Given the description of an element on the screen output the (x, y) to click on. 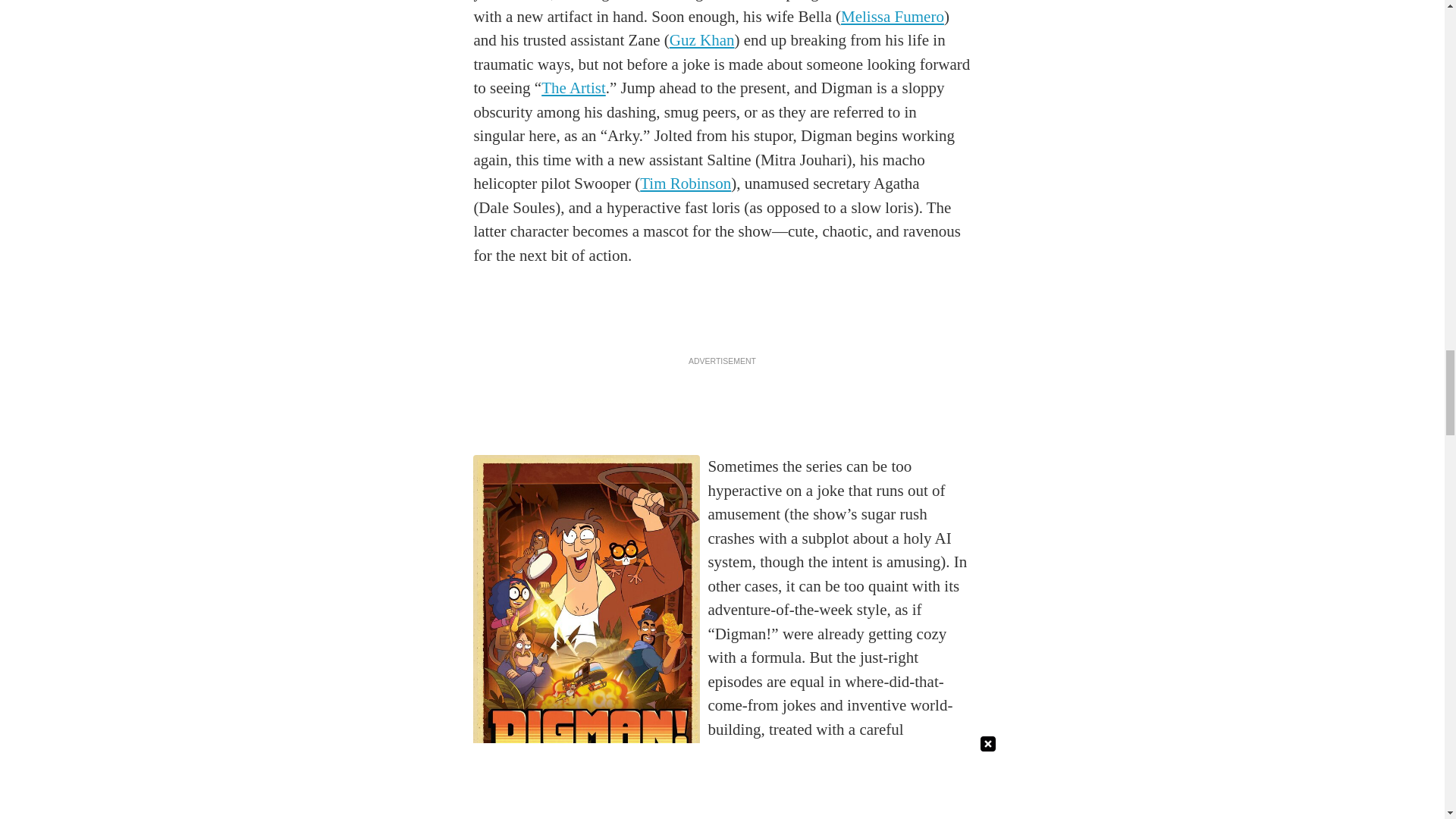
Melissa Fumero (892, 16)
The Artist (573, 87)
Guz Khan (702, 40)
Tim Robinson (685, 183)
